Given the description of an element on the screen output the (x, y) to click on. 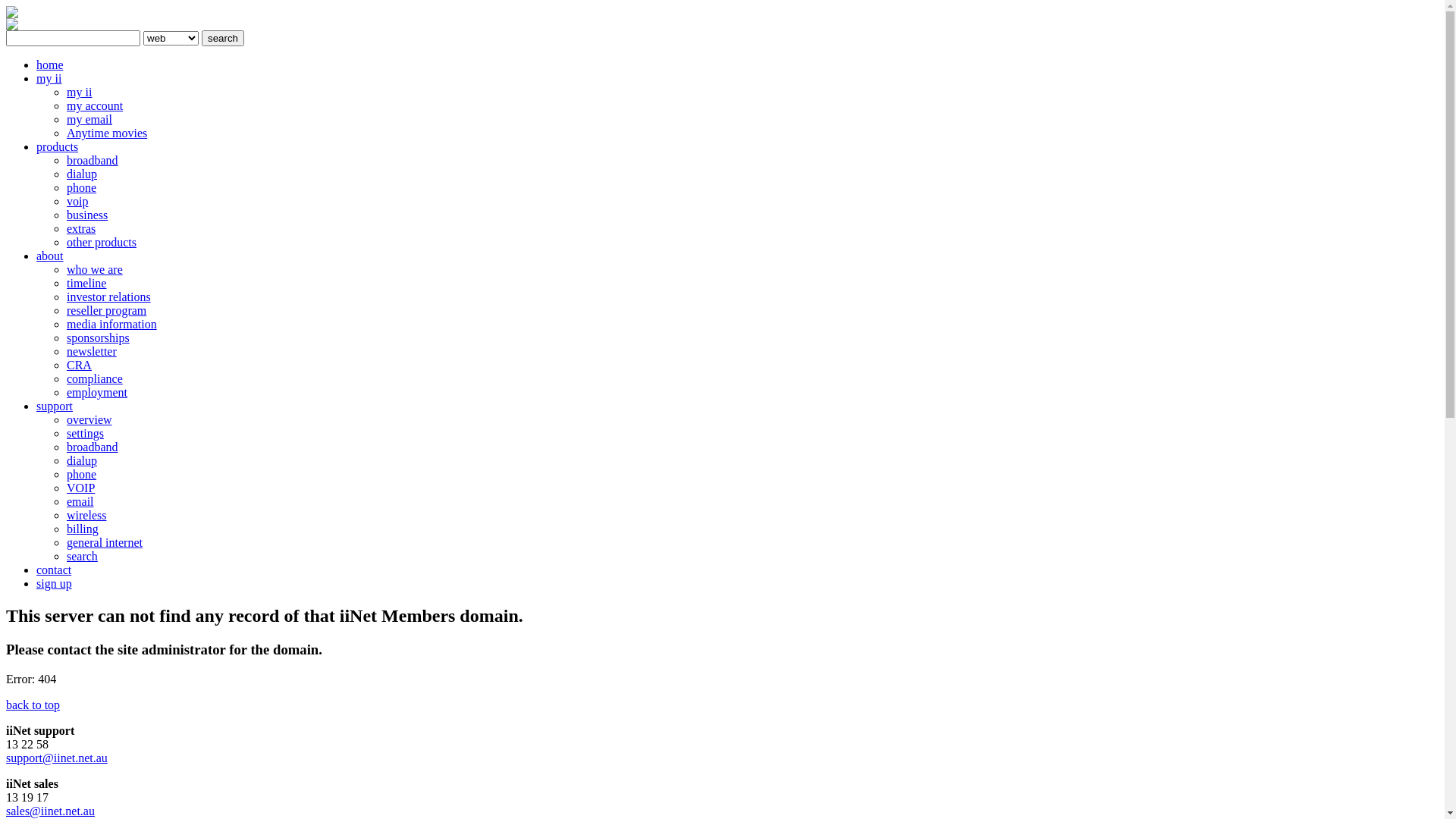
media information Element type: text (111, 323)
sales@iinet.net.au Element type: text (50, 810)
employment Element type: text (96, 391)
wireless Element type: text (86, 514)
CRA Element type: text (78, 364)
search Element type: text (81, 555)
my email Element type: text (89, 118)
home Element type: text (49, 64)
email Element type: text (80, 501)
search Element type: text (222, 38)
support@iinet.net.au Element type: text (56, 757)
billing Element type: text (82, 528)
voip Element type: text (76, 200)
extras Element type: text (80, 228)
newsletter Element type: text (91, 351)
my account Element type: text (94, 105)
timeline Element type: text (86, 282)
dialup Element type: text (81, 460)
settings Element type: text (84, 432)
reseller program Element type: text (106, 310)
VOIP Element type: text (80, 487)
investor relations Element type: text (108, 296)
my ii Element type: text (48, 78)
products Element type: text (57, 146)
about Element type: text (49, 255)
support Element type: text (54, 405)
my ii Element type: text (78, 91)
other products Element type: text (101, 241)
general internet Element type: text (104, 542)
back to top Element type: text (32, 704)
phone Element type: text (81, 473)
compliance Element type: text (94, 378)
sign up Element type: text (54, 583)
contact Element type: text (53, 569)
phone Element type: text (81, 187)
who we are Element type: text (94, 269)
dialup Element type: text (81, 173)
overview Element type: text (89, 419)
business Element type: text (86, 214)
broadband Element type: text (92, 159)
broadband Element type: text (92, 446)
sponsorships Element type: text (97, 337)
Anytime movies Element type: text (106, 132)
